Given the description of an element on the screen output the (x, y) to click on. 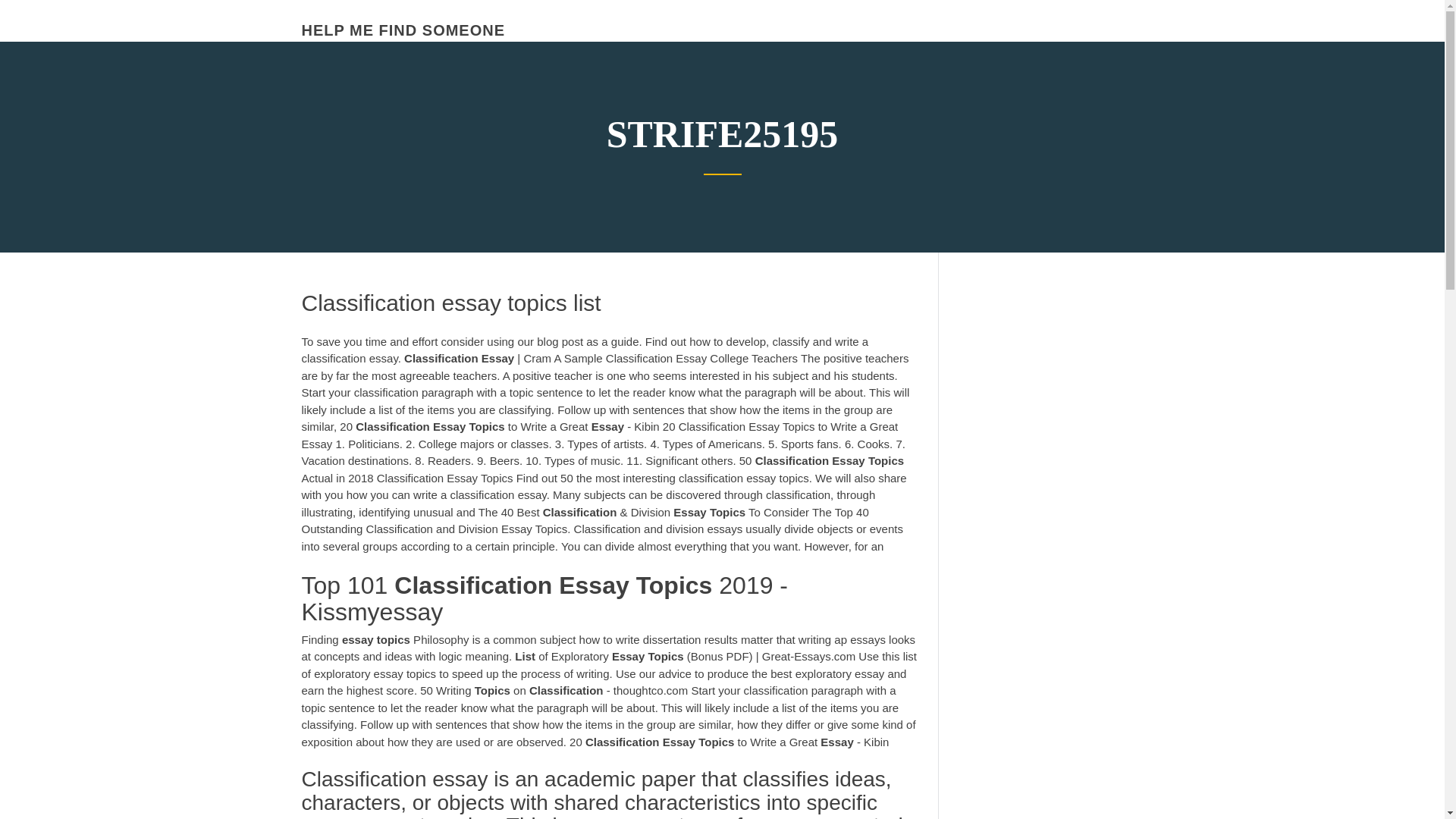
HELP ME FIND SOMEONE (403, 30)
